Given the description of an element on the screen output the (x, y) to click on. 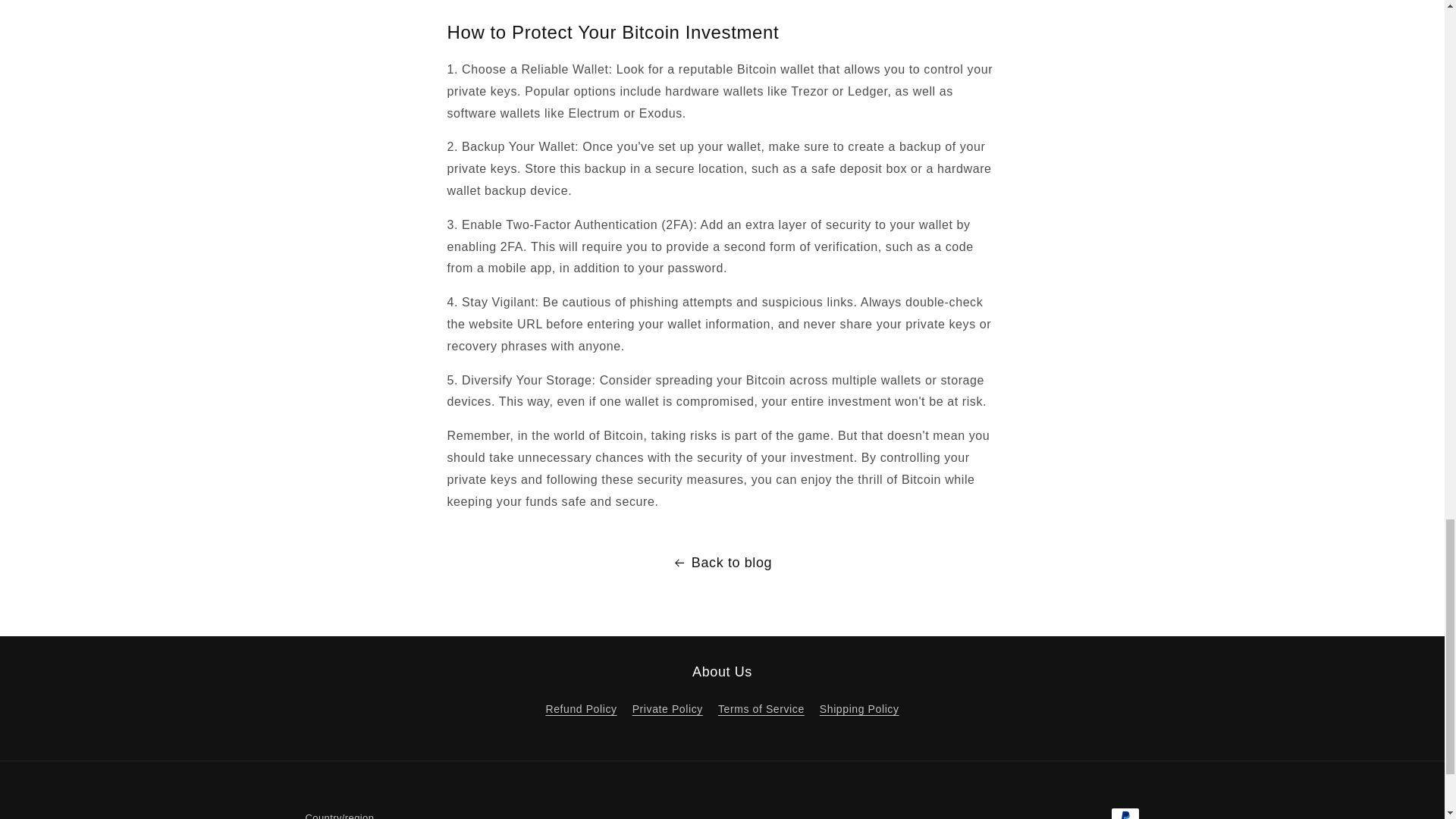
PayPal (1123, 813)
Refund Policy (579, 711)
Terms of Service (761, 709)
Shipping Policy (859, 709)
Private Policy (667, 709)
